Given the description of an element on the screen output the (x, y) to click on. 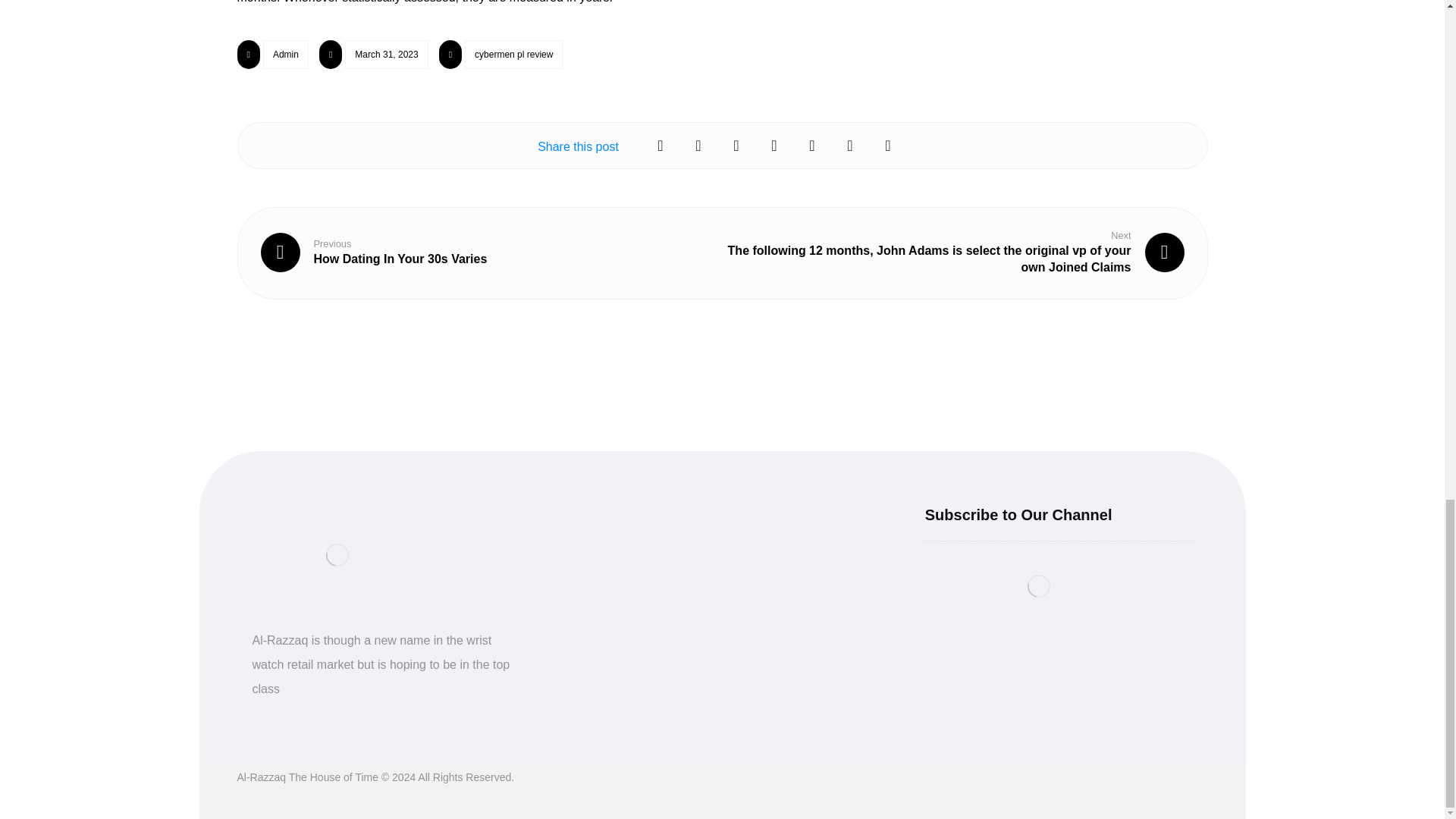
Admin (373, 251)
cybermen pl review (285, 54)
March 31, 2023 (513, 54)
